Given the description of an element on the screen output the (x, y) to click on. 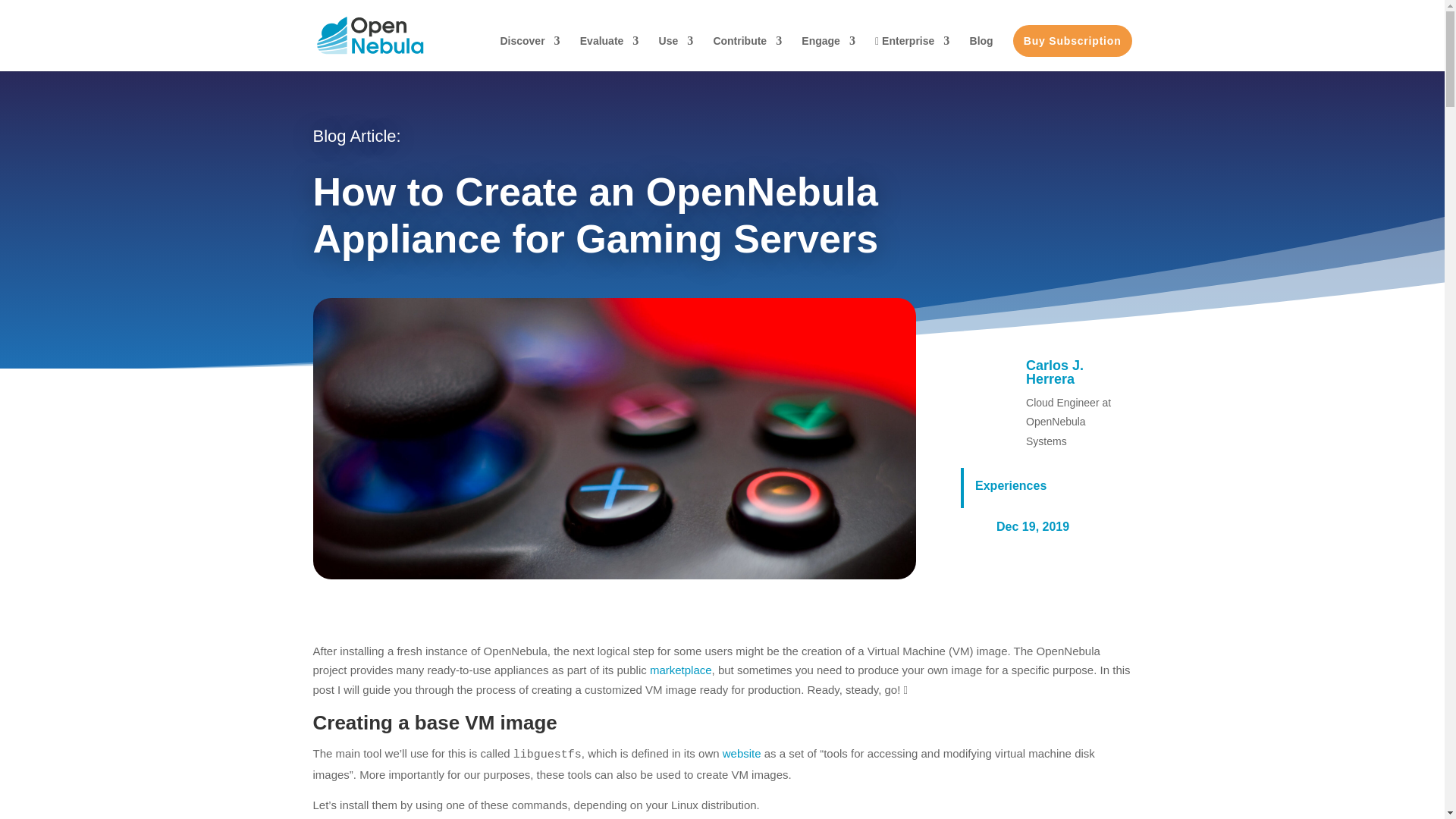
Use (676, 53)
Evaluate (609, 53)
Discover (529, 53)
